Given the description of an element on the screen output the (x, y) to click on. 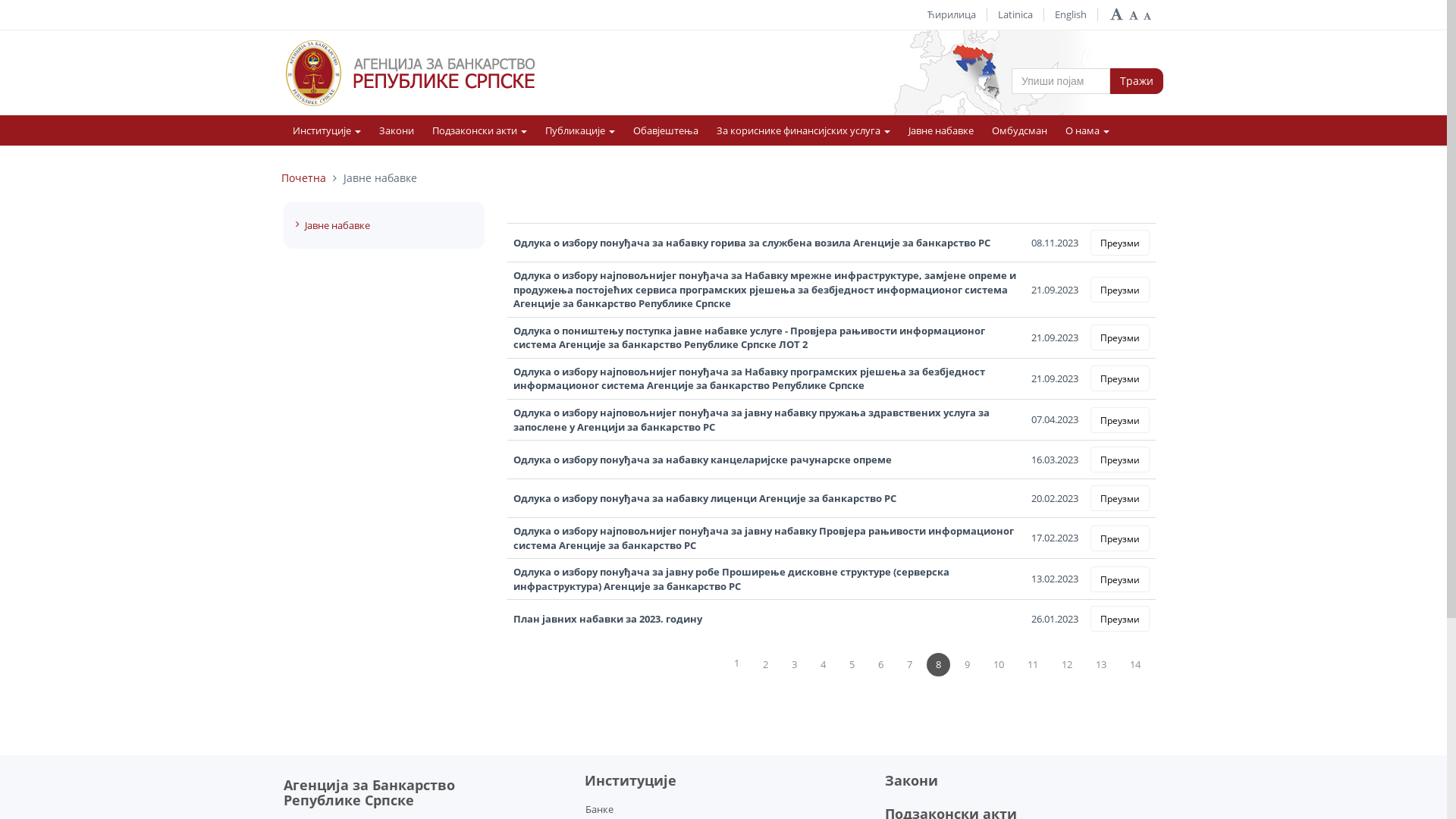
4 Element type: text (822, 664)
7 Element type: text (909, 664)
2 Element type: text (765, 664)
9 Element type: text (967, 664)
1 Element type: text (736, 664)
11 Element type: text (1032, 664)
13 Element type: text (1100, 664)
English Element type: text (1070, 14)
10 Element type: text (998, 664)
14 Element type: text (1134, 664)
Latinica Element type: text (1014, 14)
6 Element type: text (880, 664)
5 Element type: text (851, 664)
12 Element type: text (1066, 664)
3 Element type: text (794, 664)
